Given the description of an element on the screen output the (x, y) to click on. 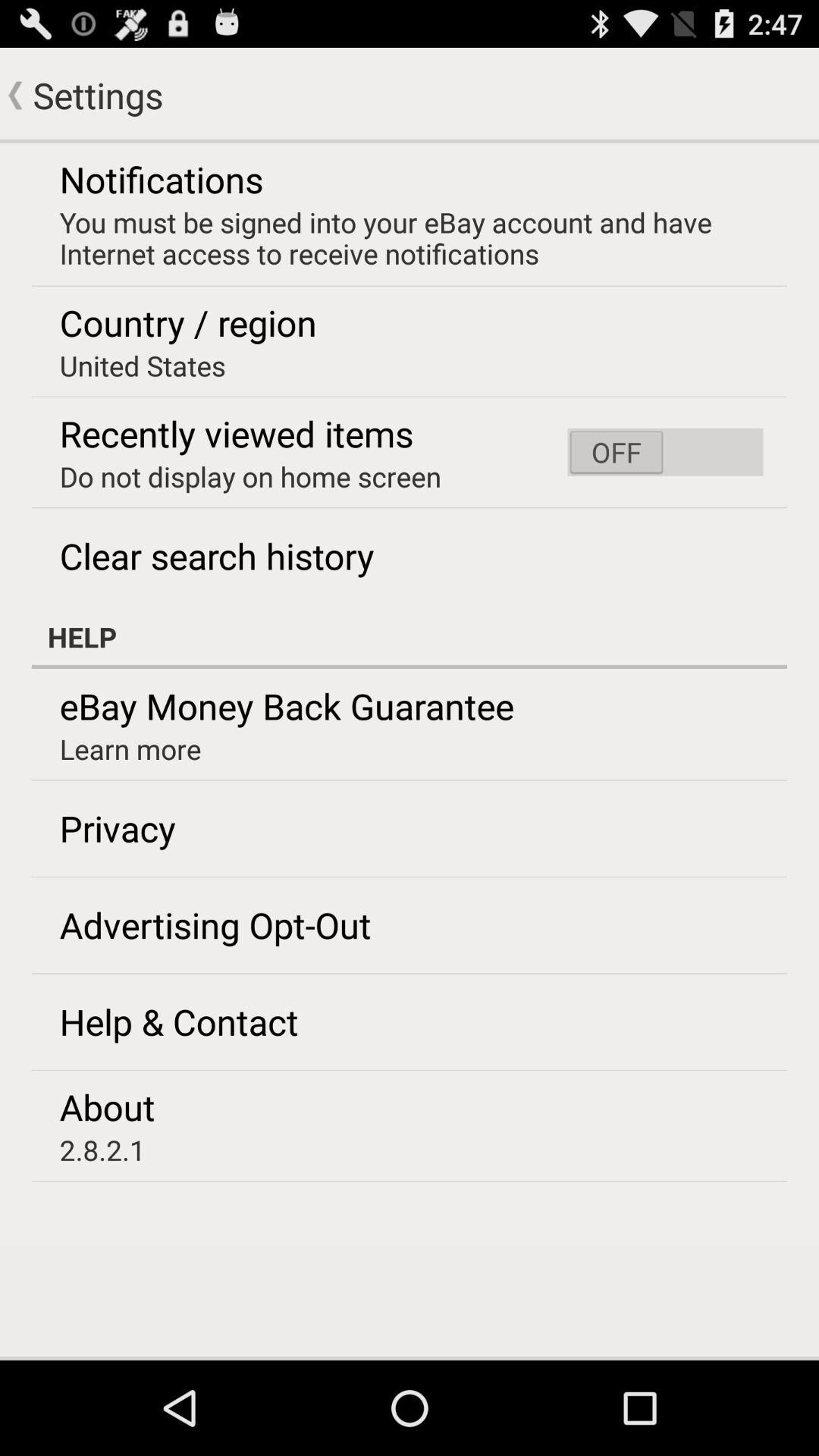
launch item above the do not display item (236, 433)
